Given the description of an element on the screen output the (x, y) to click on. 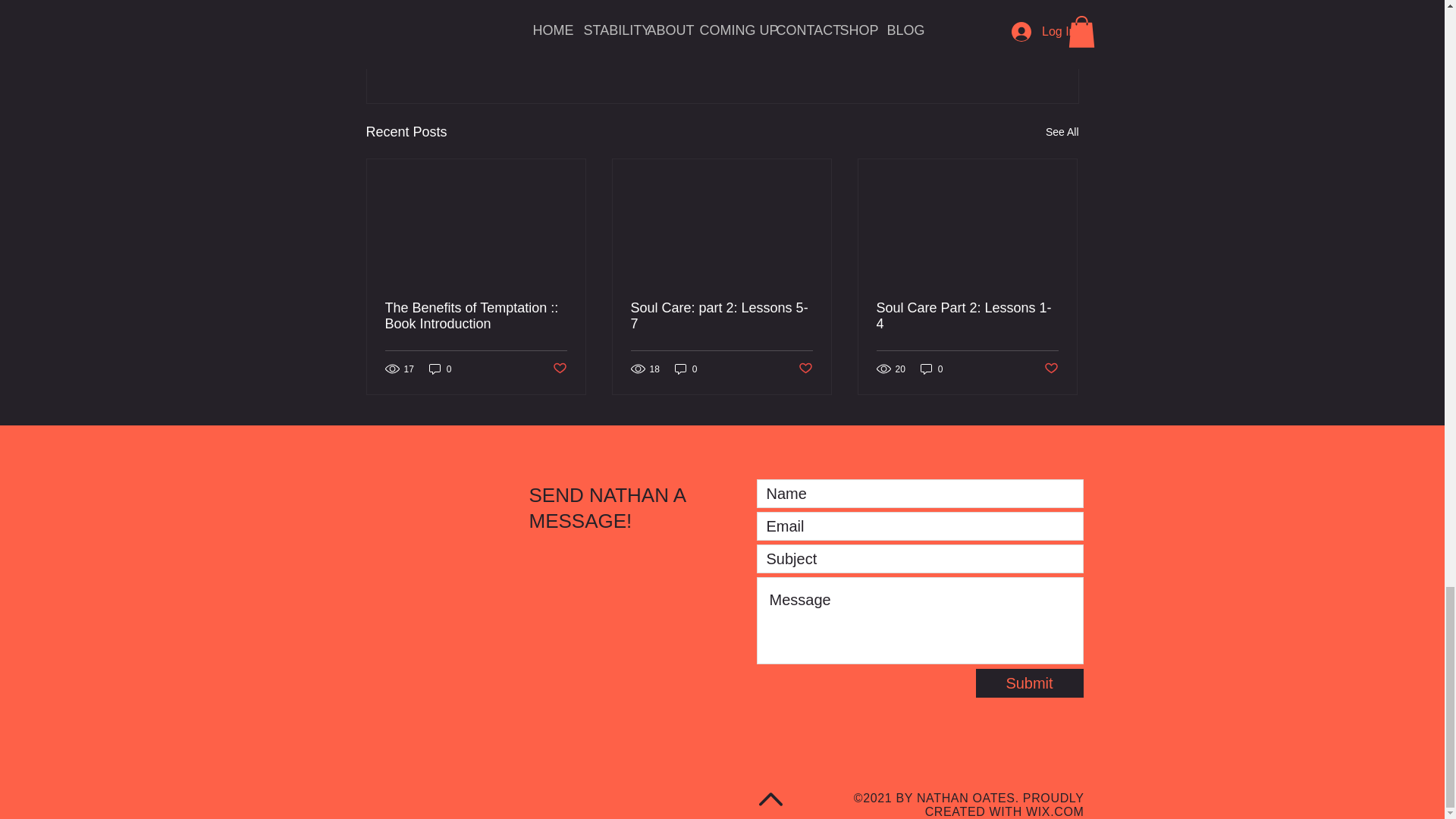
0 (685, 368)
Soul Care: part 2: Lessons 5-7 (721, 316)
Post not marked as liked (995, 49)
See All (1061, 132)
0 (440, 368)
Post not marked as liked (1050, 368)
0 (931, 368)
Post not marked as liked (558, 368)
Submit (1029, 683)
The Benefits of Temptation :: Book Introduction (476, 316)
Post not marked as liked (804, 368)
Soul Care Part 2: Lessons 1-4 (967, 316)
WIX.COM (1054, 811)
